Given the description of an element on the screen output the (x, y) to click on. 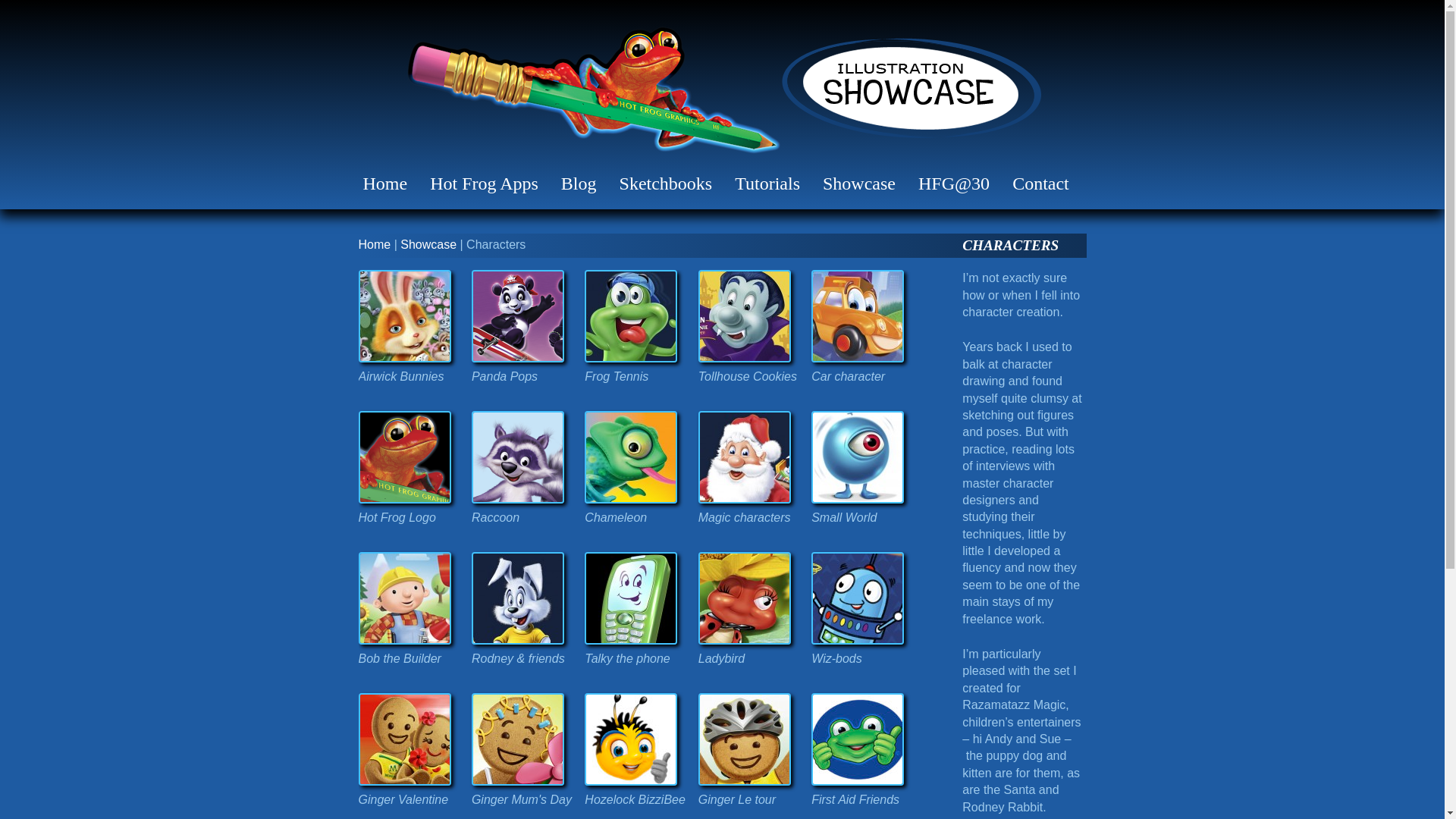
Showcase (858, 184)
Home (385, 184)
Blog (578, 184)
Contact (1040, 184)
Sketchbooks (665, 184)
Hot Frog Graphics (592, 94)
Home (374, 244)
Tutorials (767, 184)
Hot Frog Apps (484, 184)
Showcase (428, 244)
